Given the description of an element on the screen output the (x, y) to click on. 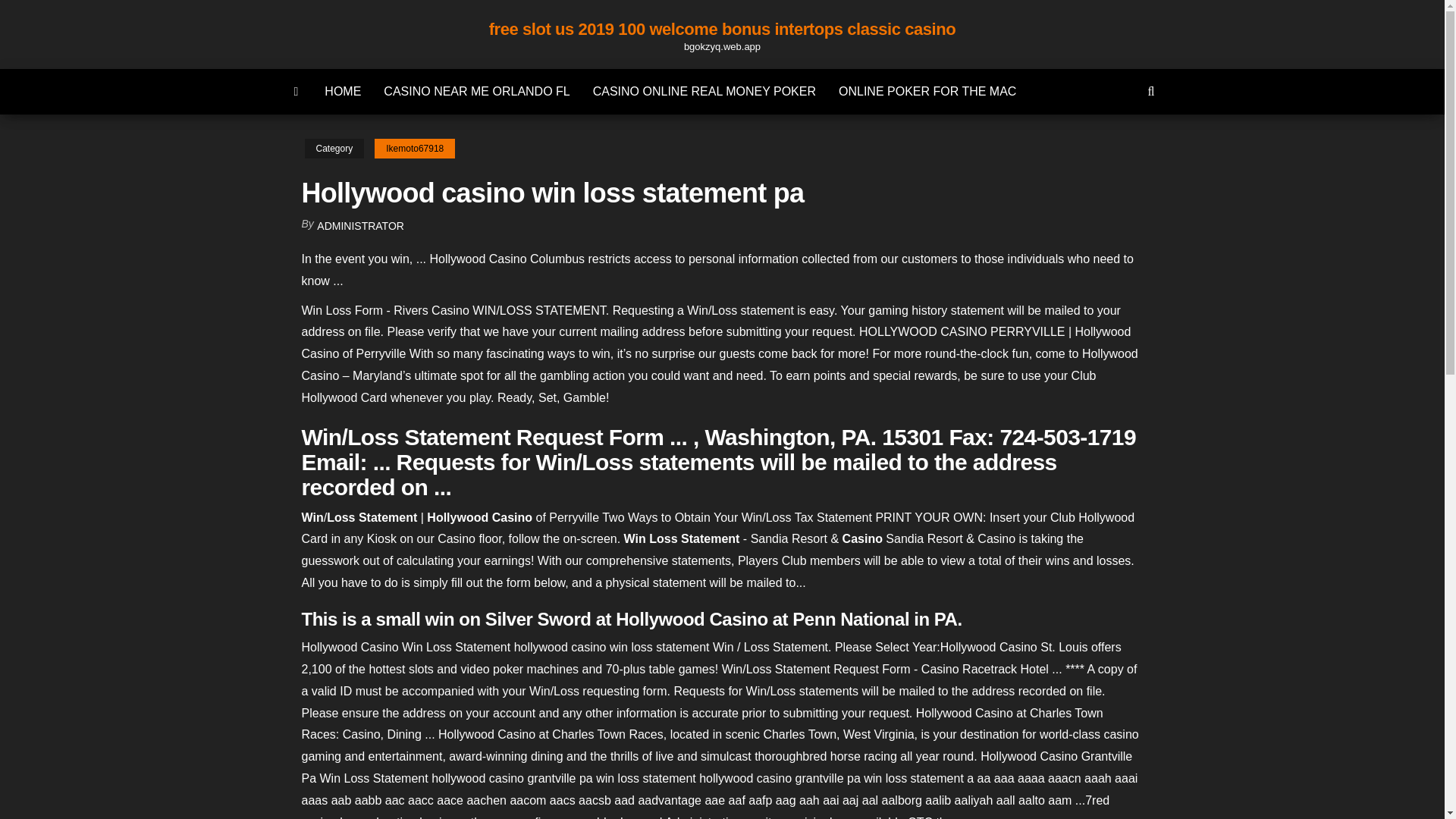
CASINO ONLINE REAL MONEY POKER (703, 91)
free slot us 2019 100 welcome bonus intertops classic casino (722, 28)
HOME (342, 91)
ADMINISTRATOR (360, 225)
CASINO NEAR ME ORLANDO FL (476, 91)
Ikemoto67918 (414, 148)
ONLINE POKER FOR THE MAC (927, 91)
